Given the description of an element on the screen output the (x, y) to click on. 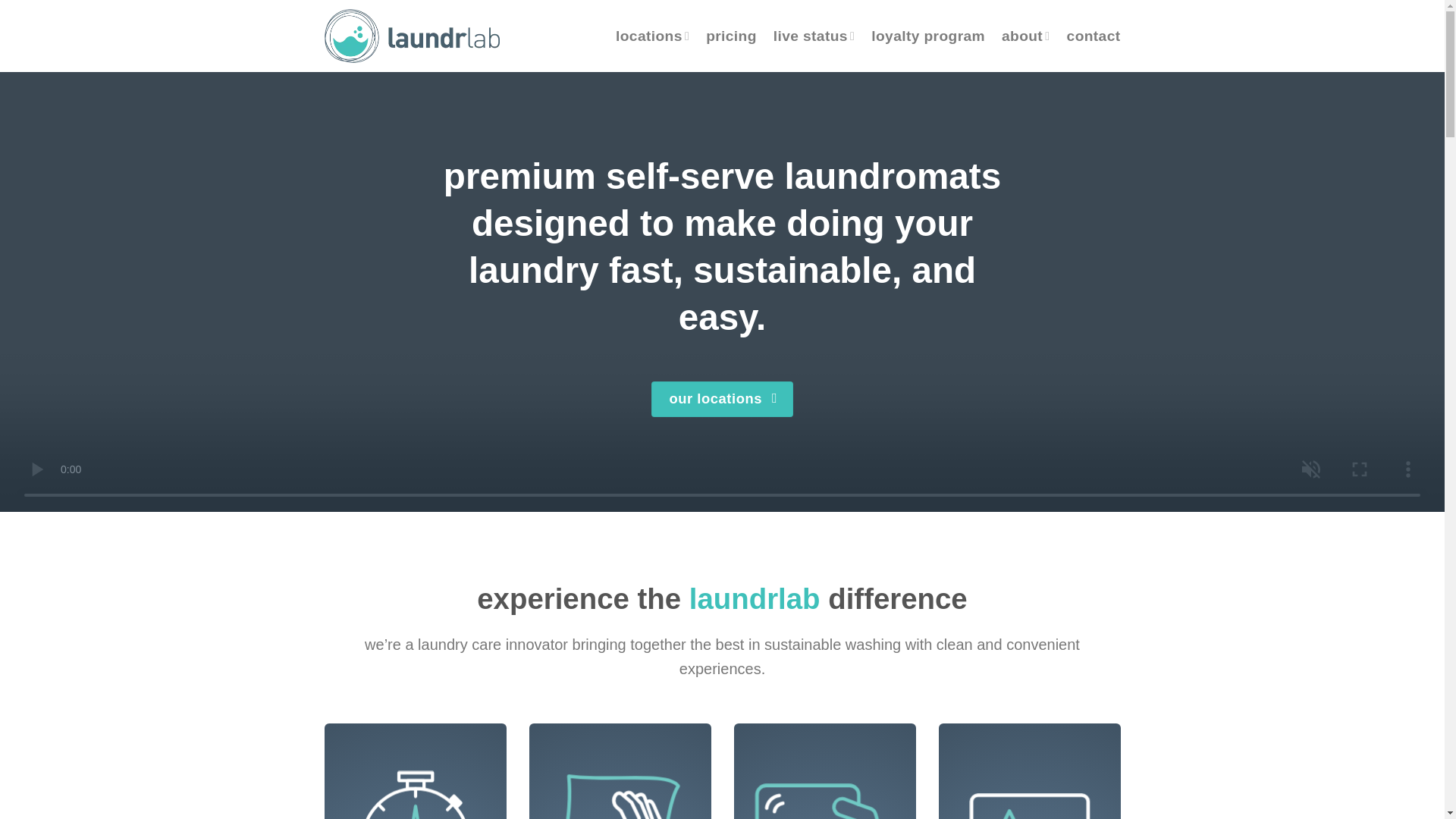
locations (651, 35)
live status (814, 35)
pricing (731, 35)
our locations (721, 398)
contact (1094, 35)
about (1025, 35)
loyalty program (927, 35)
Laundrlab - My WordPress Blog (415, 36)
